Given the description of an element on the screen output the (x, y) to click on. 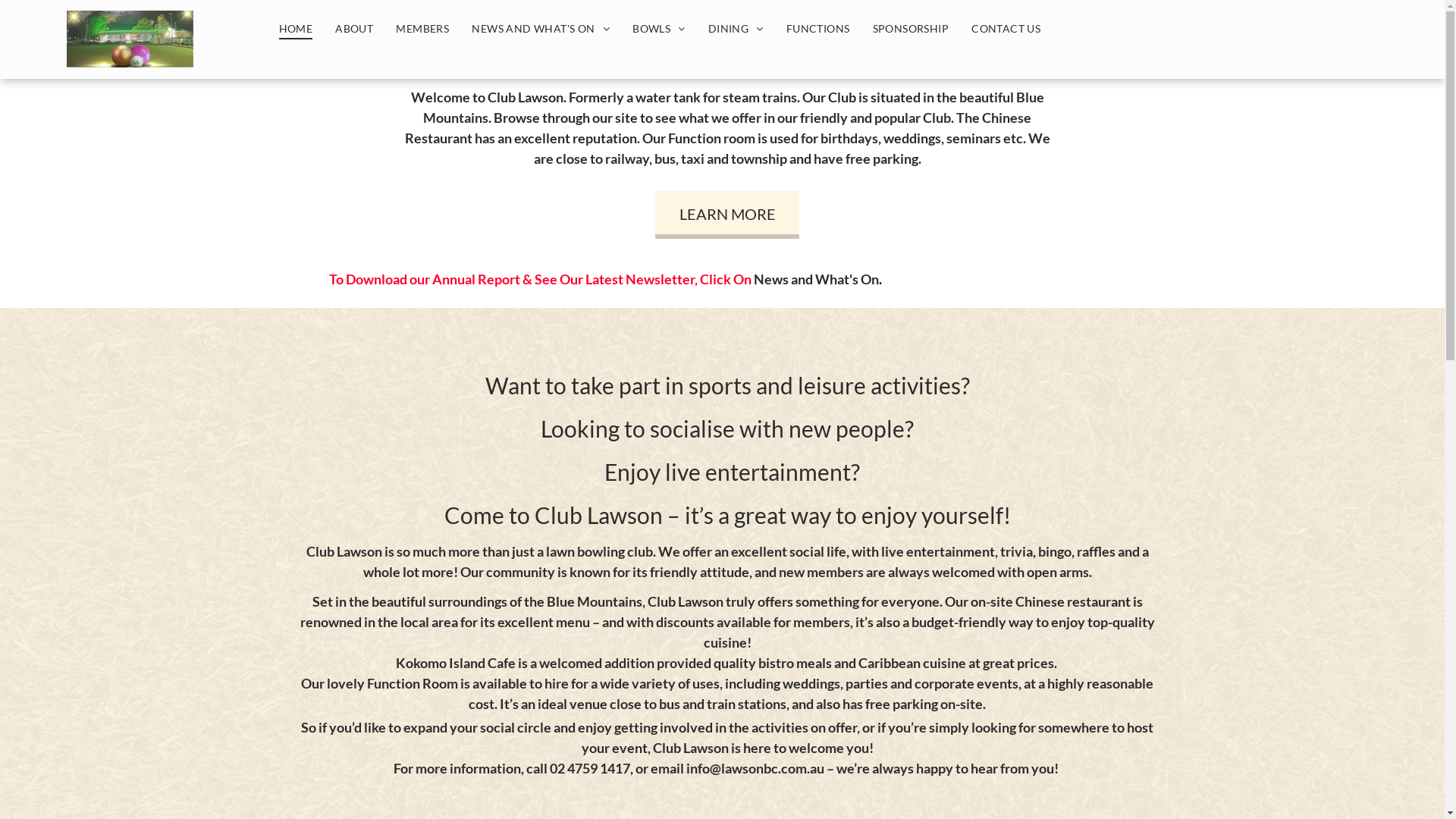
ABOUT Element type: text (353, 28)
NEWS AND WHAT'S ON Element type: text (540, 28)
LEARN MORE Element type: text (727, 215)
MEMBERS Element type: text (422, 28)
DINING Element type: text (735, 28)
SPONSORSHIP Element type: text (910, 28)
02 4759 1417 Element type: text (589, 767)
CONTACT US Element type: text (1005, 28)
HOME Element type: text (294, 28)
News and What's On Element type: text (815, 278)
FUNCTIONS Element type: text (818, 28)
BOWLS Element type: text (658, 28)
